Given the description of an element on the screen output the (x, y) to click on. 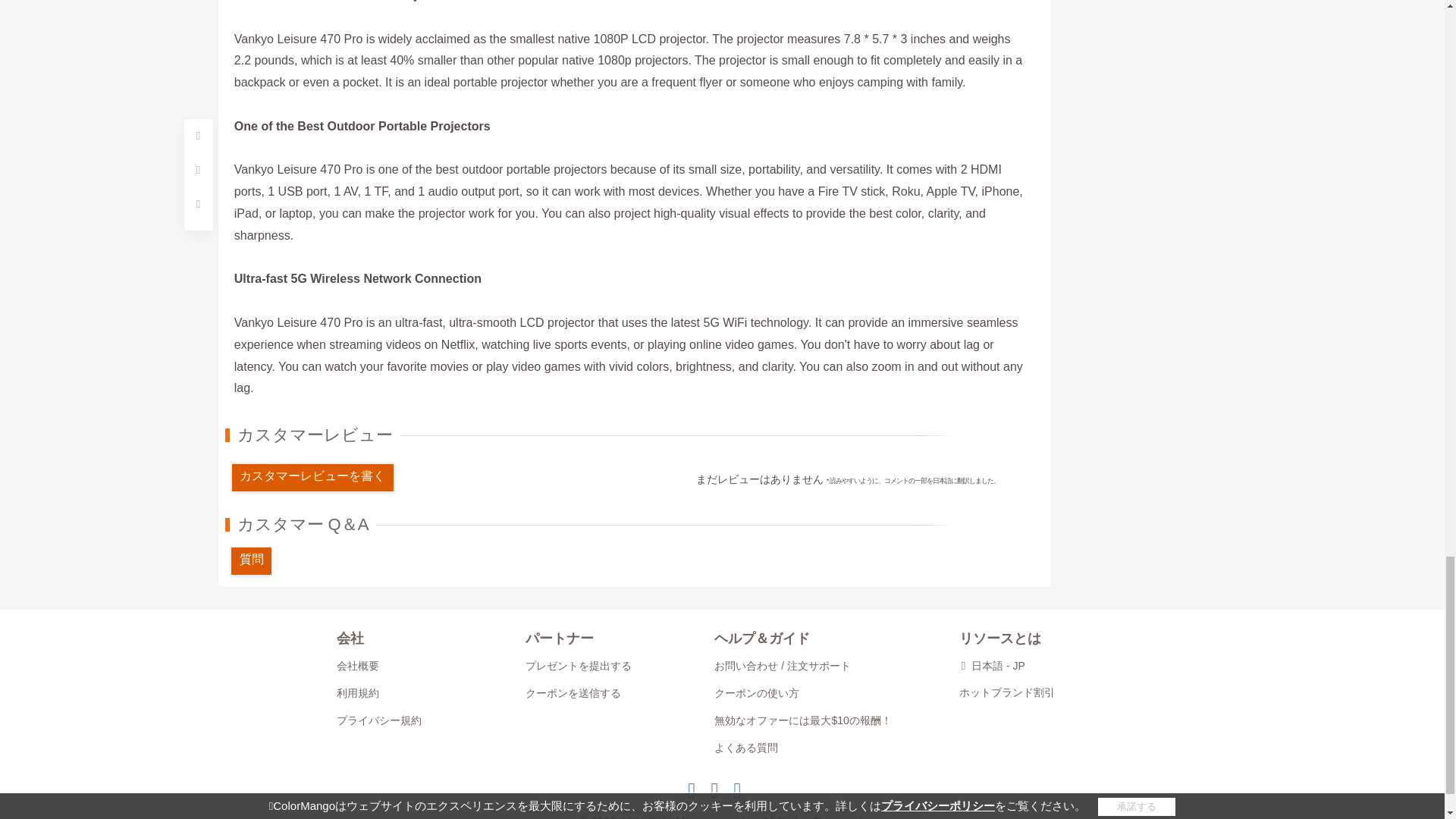
DMCA.com Protection Status (722, 796)
